Given the description of an element on the screen output the (x, y) to click on. 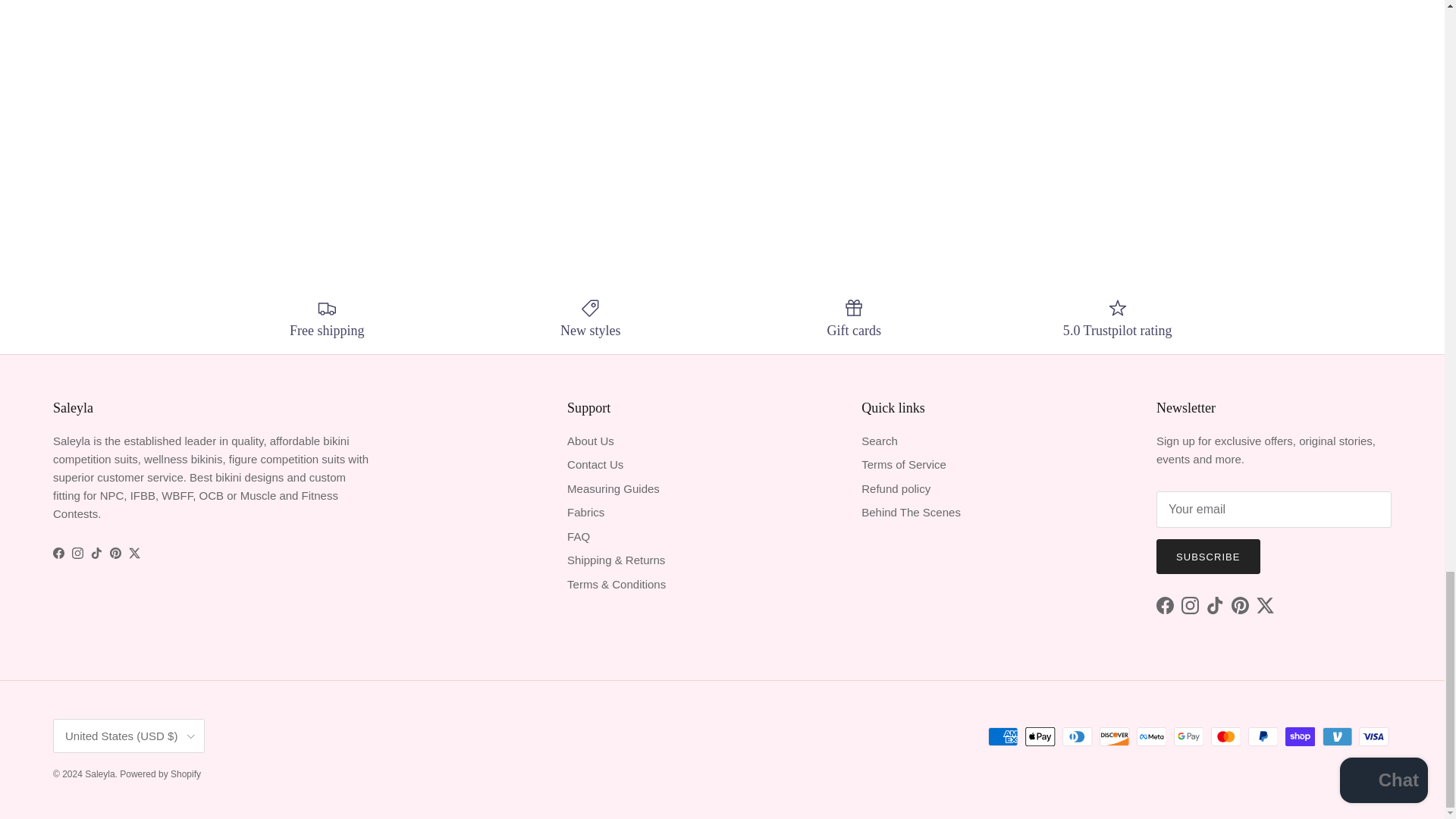
Saleyla on Instagram (76, 552)
Saleyla on Pinterest (115, 552)
Saleyla on TikTok (95, 552)
Saleyla on Facebook (1164, 605)
Saleyla on Facebook (58, 552)
Saleyla on Twitter (134, 552)
